Given the description of an element on the screen output the (x, y) to click on. 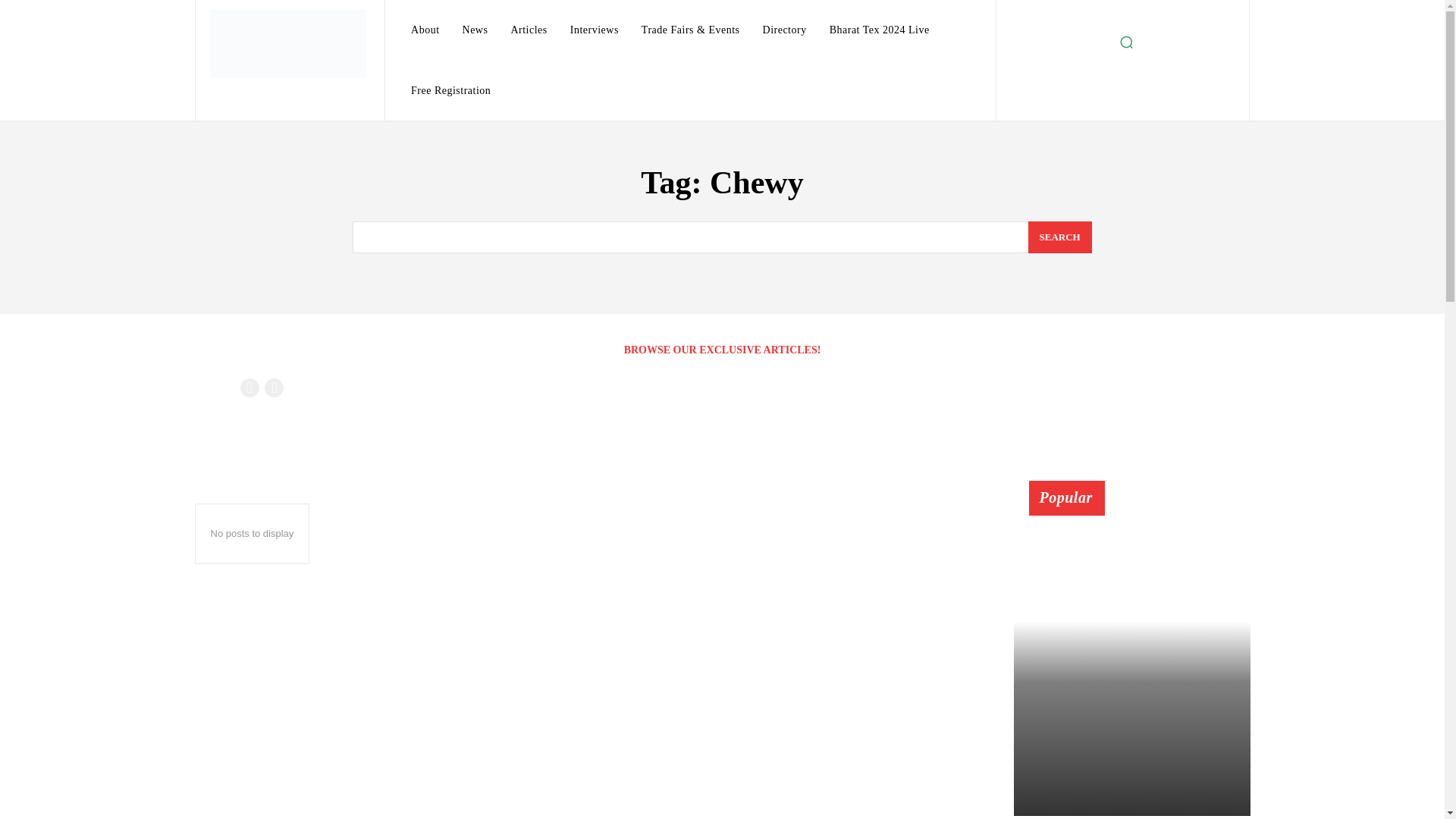
Free Registration (450, 90)
Directory (784, 30)
Bhargav Pathak (1057, 523)
Interviews (594, 30)
SEARCH (1059, 237)
What is Yarn? (1072, 504)
Bharat Tex 2024 Live (879, 30)
What is Yarn? (1072, 504)
